Given the description of an element on the screen output the (x, y) to click on. 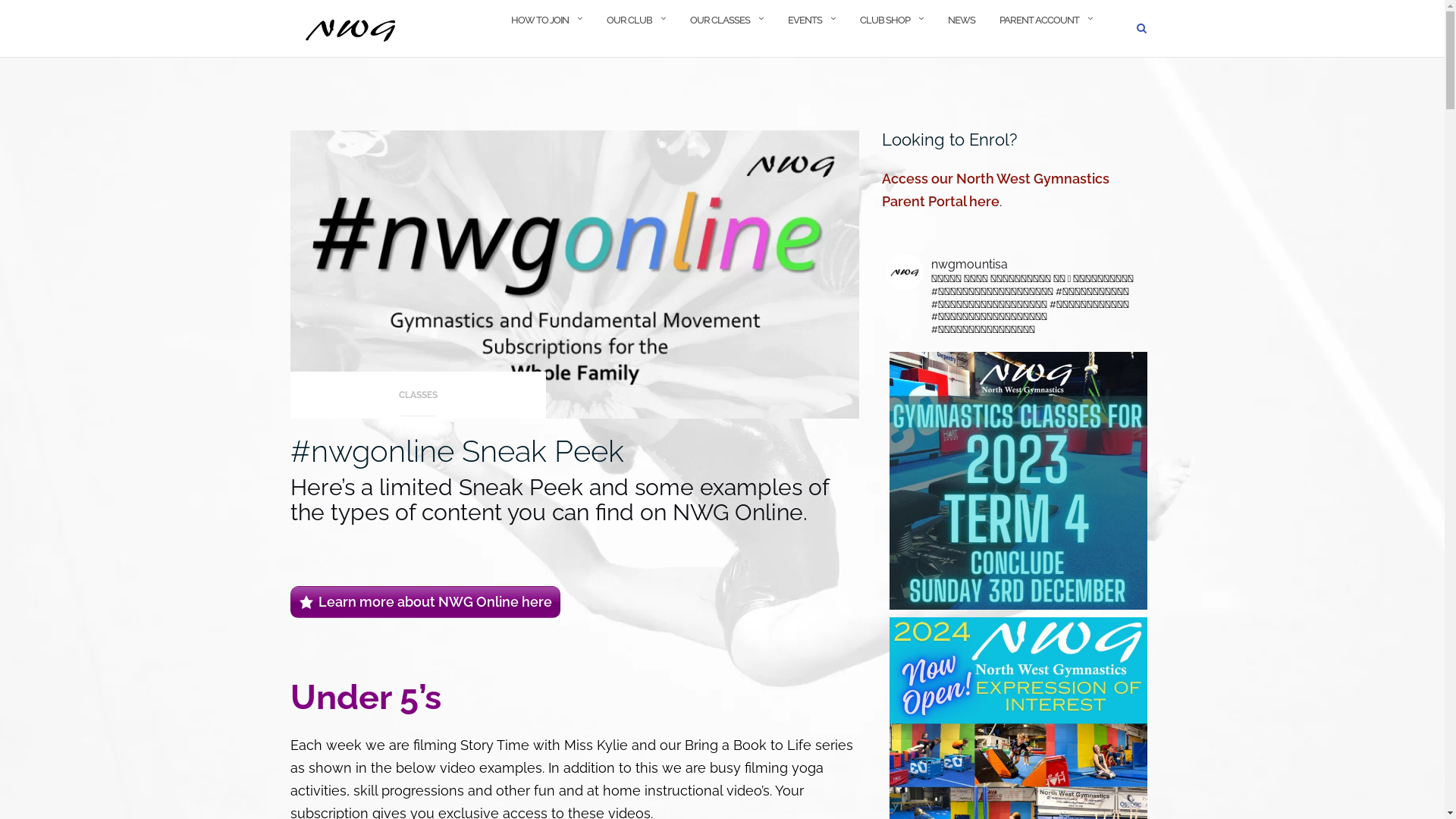
HOW TO JOIN Element type: text (539, 29)
#nwgonline Sneak Peek Element type: text (456, 450)
OUR CLASSES Element type: text (719, 29)
PARENT ACCOUNT Element type: text (1039, 29)
Access our North West Gymnastics Parent Portal here Element type: text (994, 189)
Learn more about NWG Online here Element type: text (424, 602)
EVENTS Element type: text (804, 29)
OUR CLUB Element type: text (629, 29)
CLUB SHOP Element type: text (884, 29)
CLASSES Element type: text (417, 399)
NEWS Element type: text (961, 29)
